Given the description of an element on the screen output the (x, y) to click on. 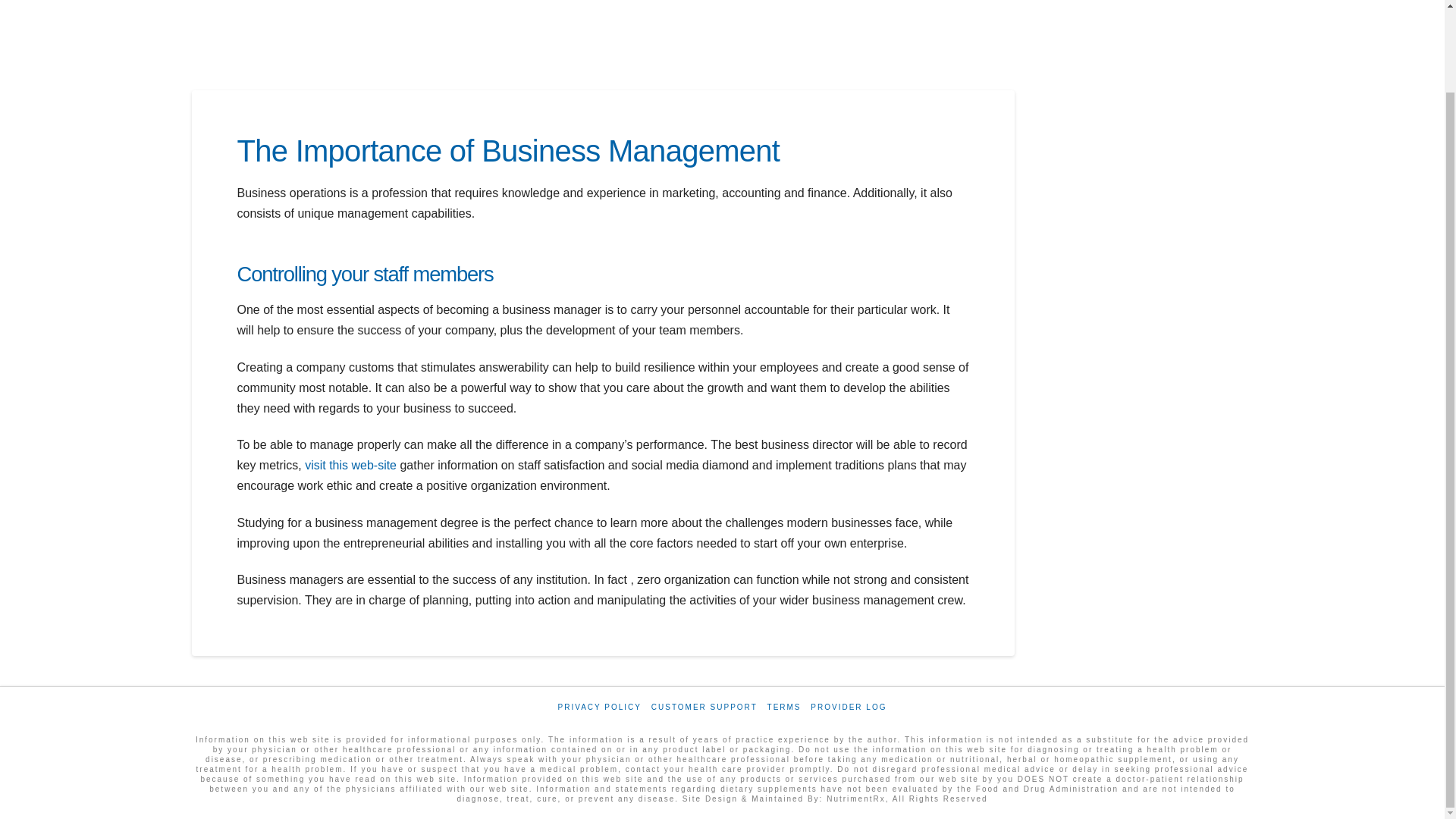
visit this web-site (350, 464)
TERMS (784, 706)
PROVIDER LOG (848, 706)
CUSTOMER SUPPORT (703, 706)
PRIVACY POLICY (599, 706)
